Given the description of an element on the screen output the (x, y) to click on. 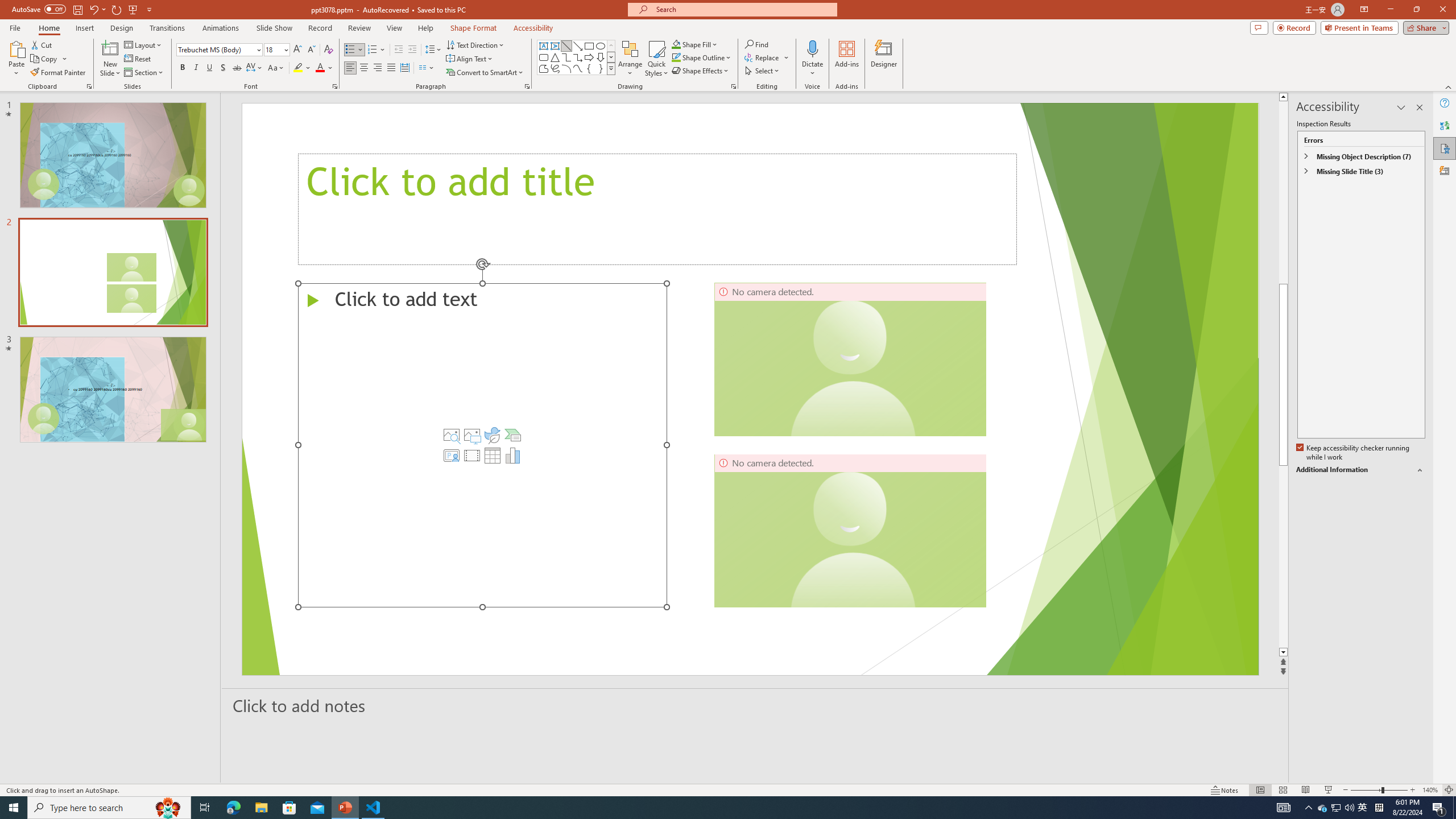
Justify (390, 67)
Right Brace (600, 68)
Left Brace (589, 68)
Shape Fill Dark Green, Accent 2 (675, 44)
Additional Information (1360, 469)
Arrow: Right (589, 57)
AutomationID: ShapesInsertGallery (576, 57)
